Given the description of an element on the screen output the (x, y) to click on. 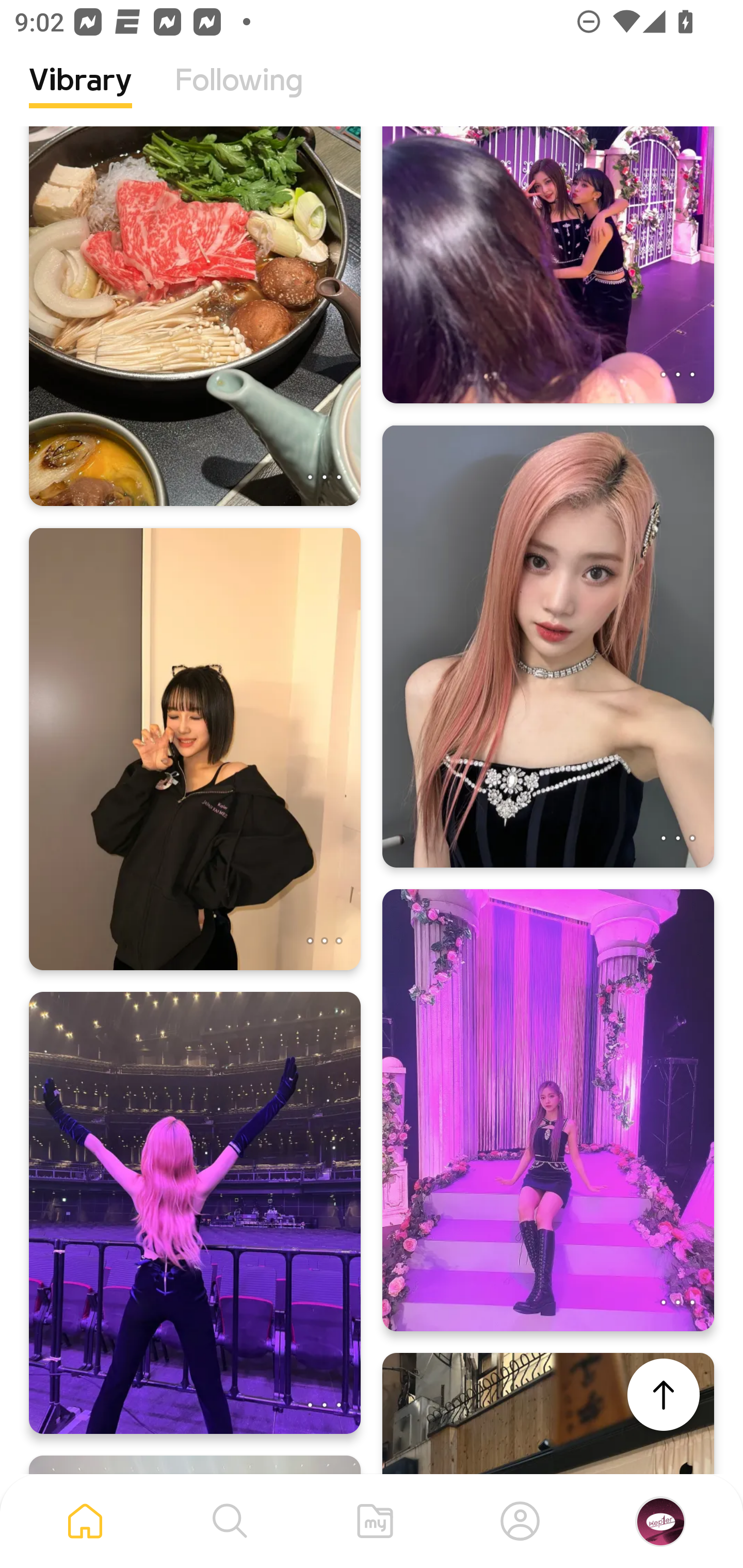
Vibrary (80, 95)
Following (239, 95)
